Given the description of an element on the screen output the (x, y) to click on. 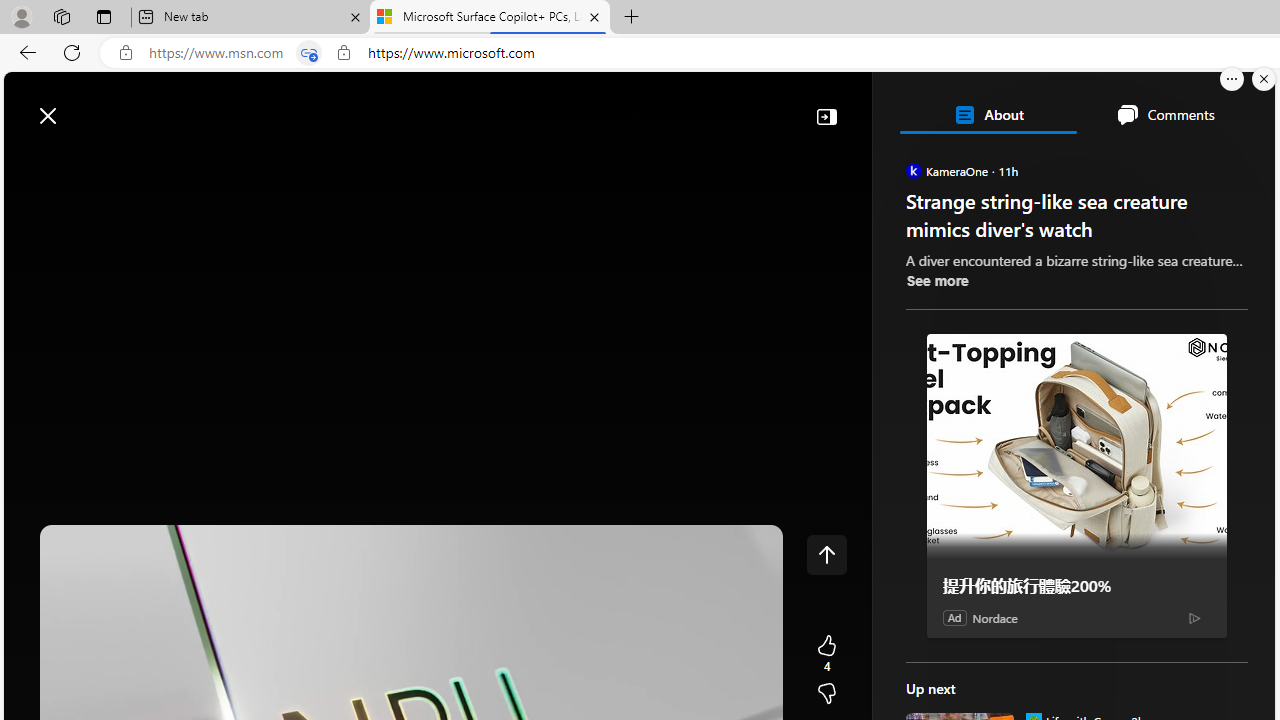
Web search (283, 105)
Class: button-glyph (29, 162)
Class: control icon-only (826, 554)
